Given the description of an element on the screen output the (x, y) to click on. 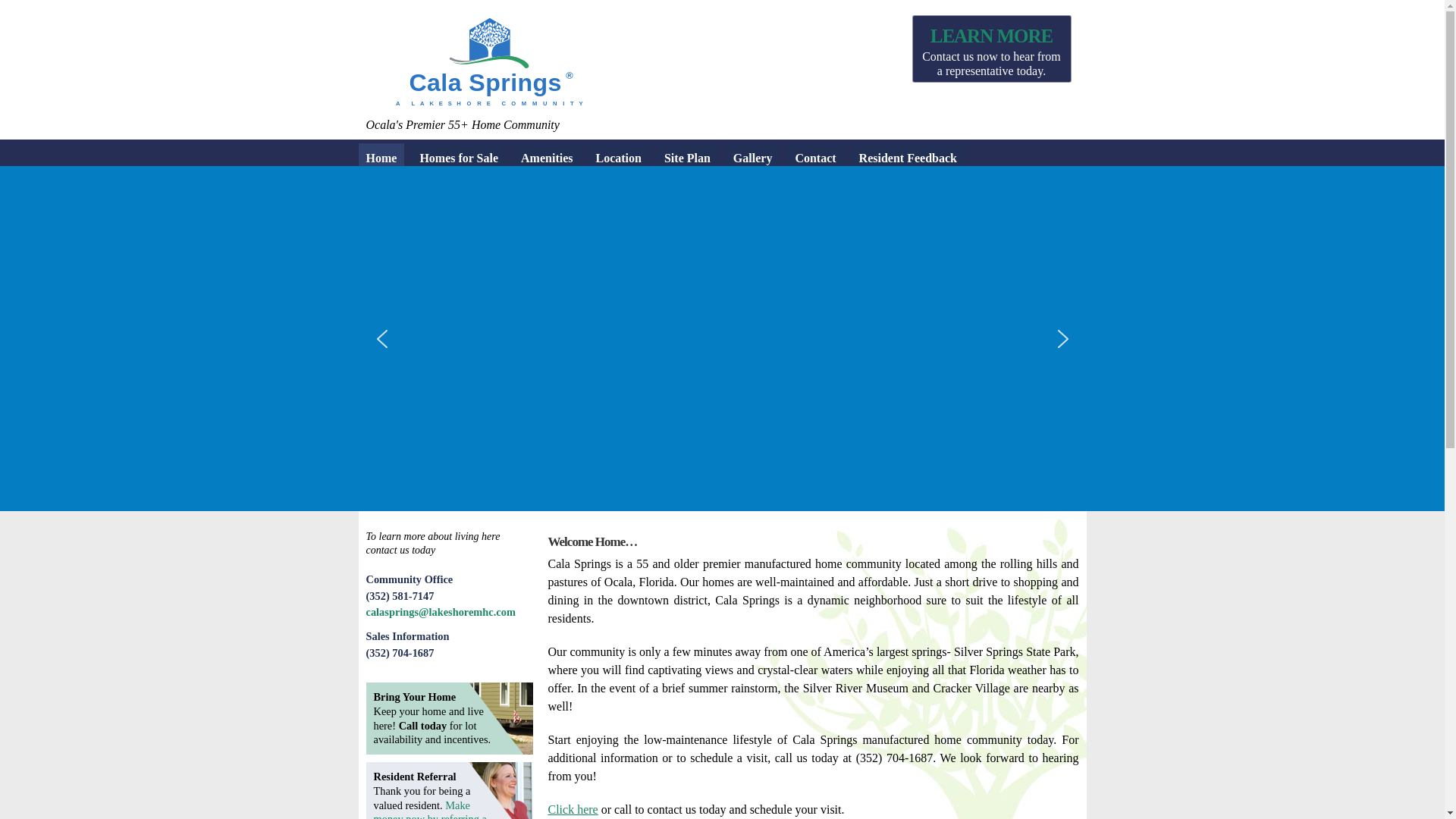
Gallery (752, 157)
Contact (815, 157)
Home (381, 157)
Resident Feedback (907, 157)
Site Plan (686, 157)
Cala Springs (520, 106)
Location (618, 157)
Homes for Sale (458, 157)
Amenities (546, 157)
Click here (571, 809)
